Given the description of an element on the screen output the (x, y) to click on. 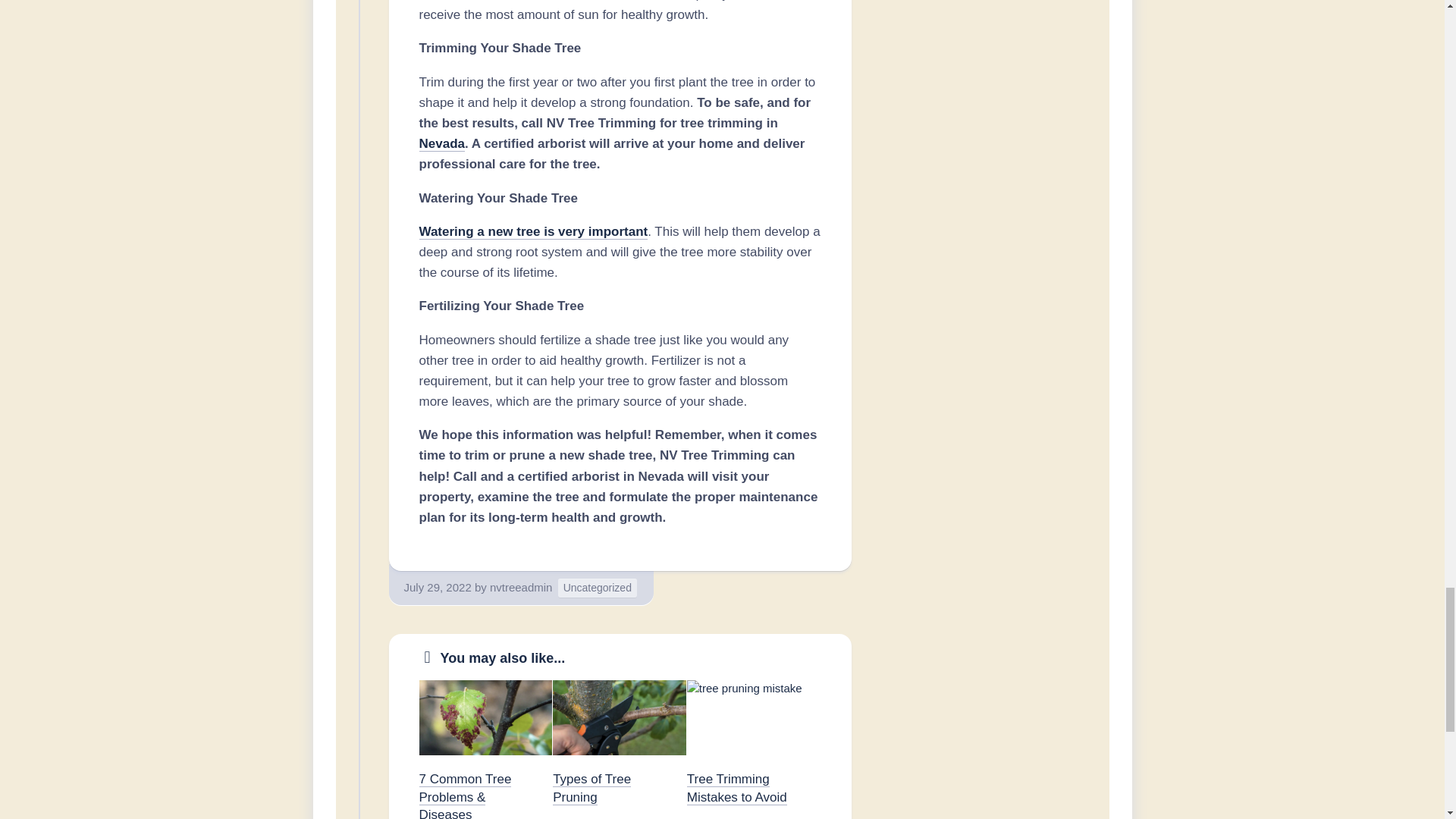
nvtreeadmin (521, 586)
Uncategorized (597, 587)
Posts by nvtreeadmin (521, 586)
Tree Trimming Mistakes to Avoid (737, 788)
Watering a new tree is very important (533, 231)
Types of Tree Pruning (591, 788)
Nevada (441, 143)
